Given the description of an element on the screen output the (x, y) to click on. 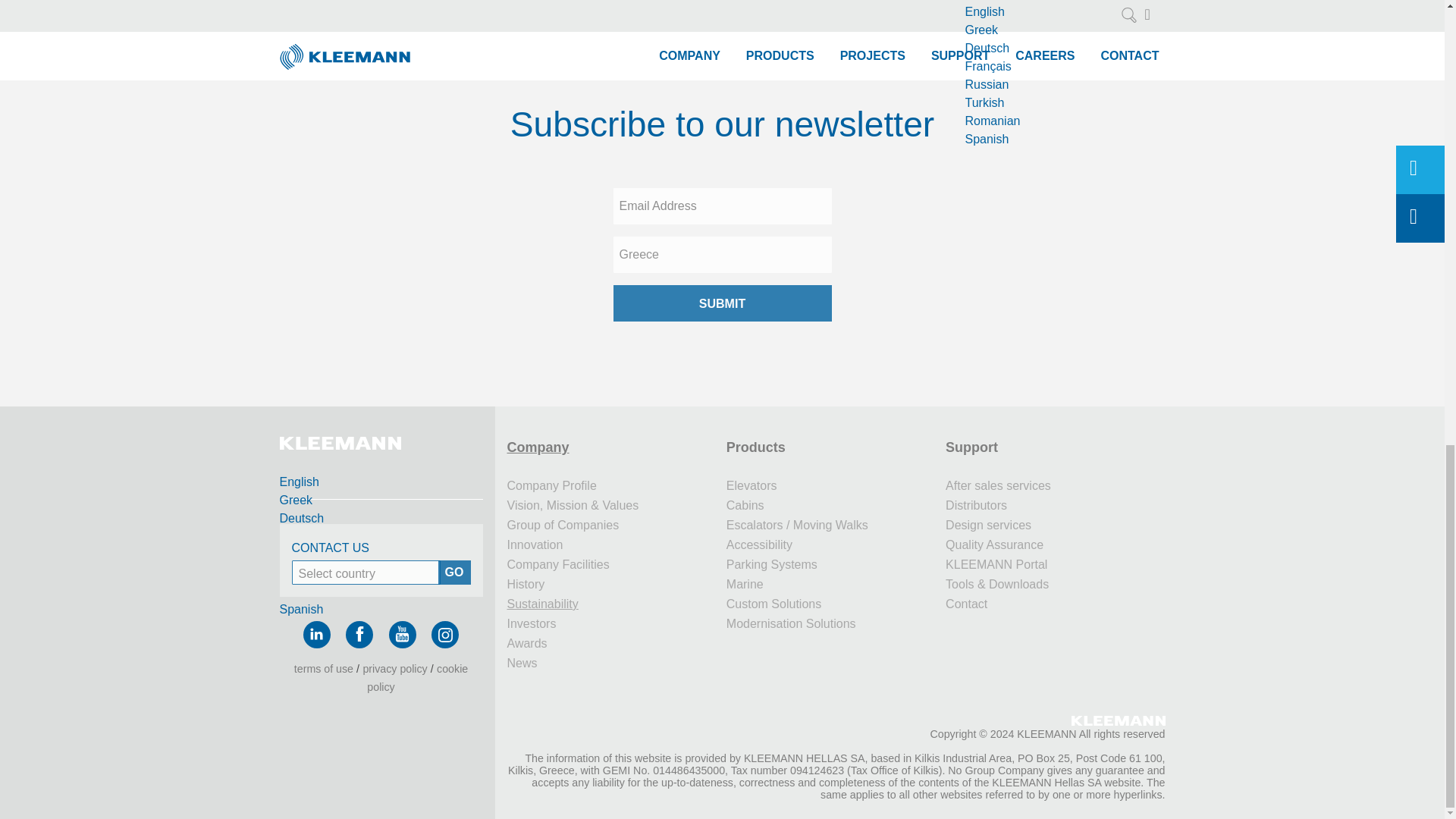
KLEEMANN Awards (609, 643)
GO (454, 572)
Submit (721, 303)
